Given the description of an element on the screen output the (x, y) to click on. 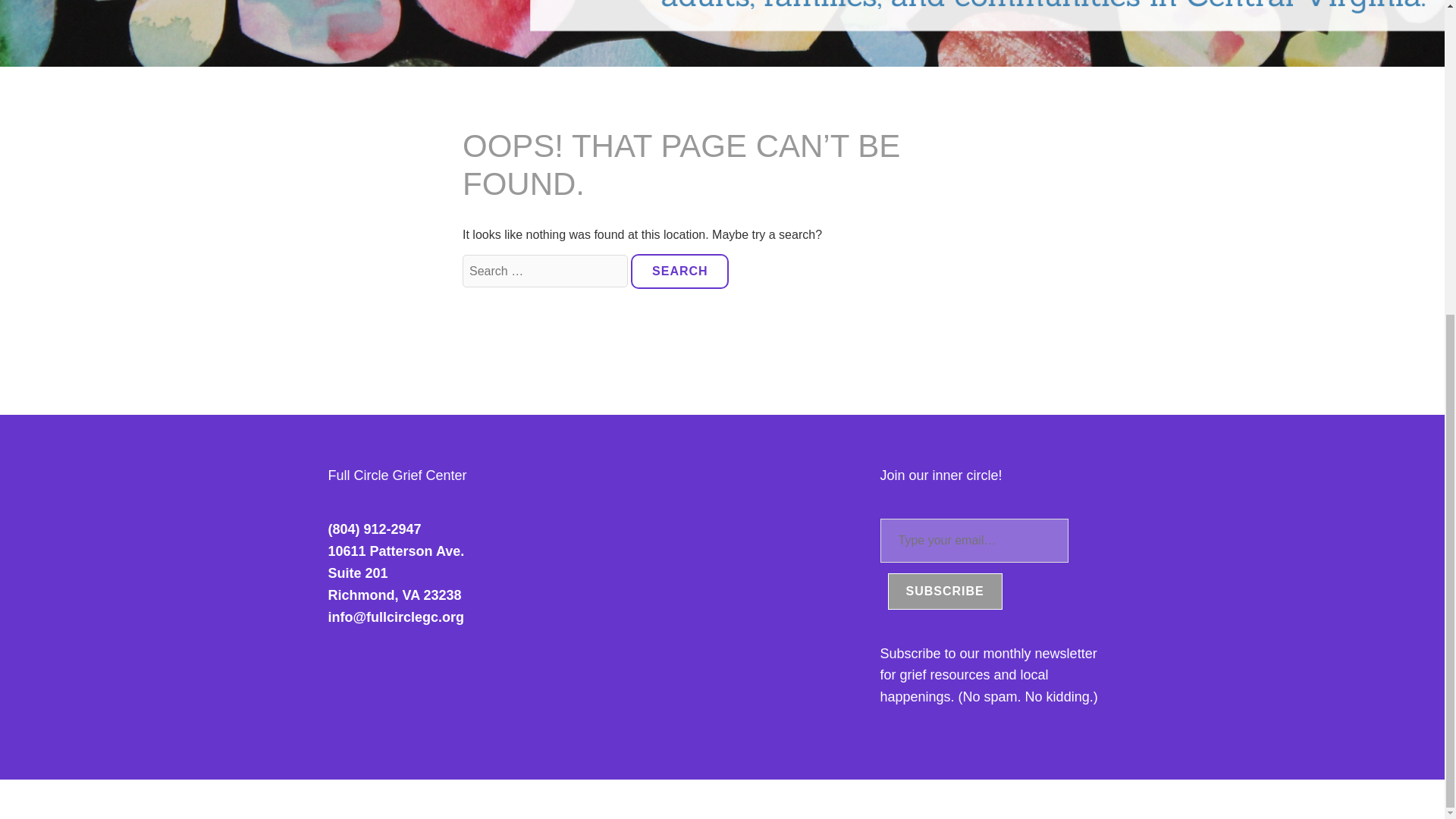
Search (679, 271)
Open address in Google Maps (445, 573)
Search (679, 271)
Please fill in this field. (445, 573)
Search (973, 540)
SUBSCRIBE (679, 271)
